Given the description of an element on the screen output the (x, y) to click on. 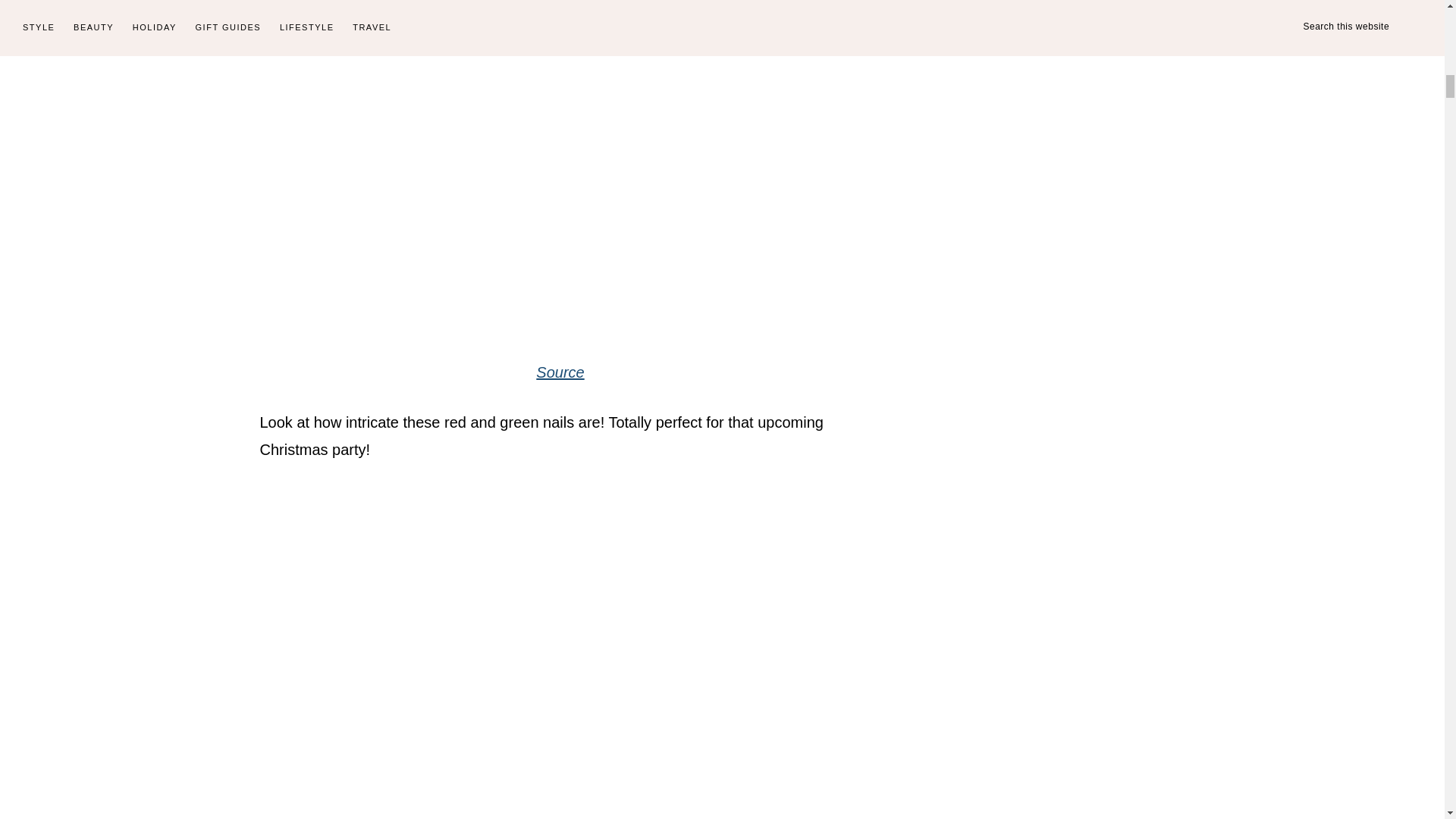
Source (559, 371)
